Given the description of an element on the screen output the (x, y) to click on. 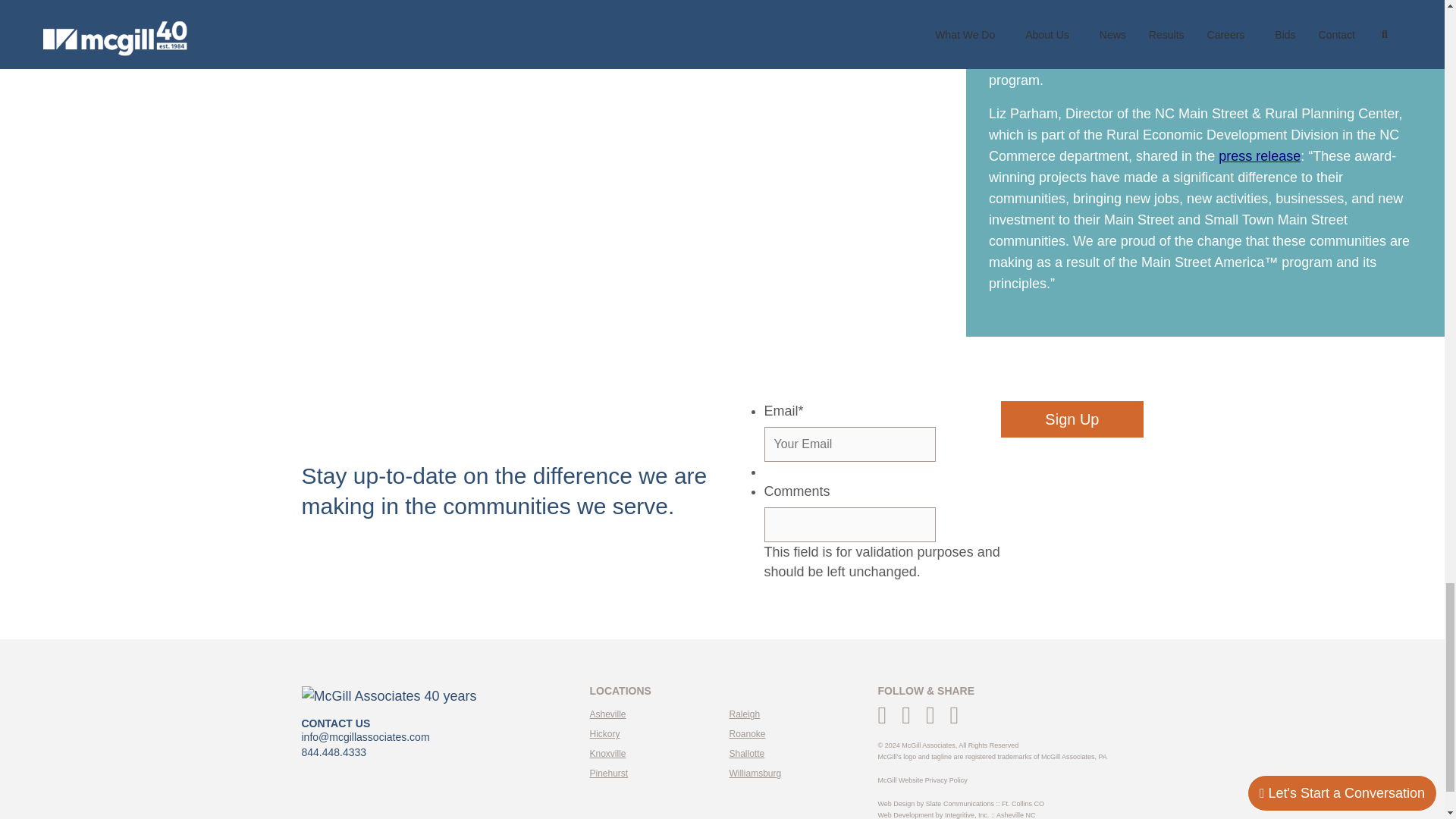
press release (1259, 155)
Sign Up (1071, 419)
Pinehurst (608, 773)
Knoxville (607, 753)
Shallotte (747, 753)
844.448.4333 (333, 752)
Raleigh (744, 714)
Roanoke (747, 733)
Asheville (607, 714)
Sign Up (1071, 419)
